Given the description of an element on the screen output the (x, y) to click on. 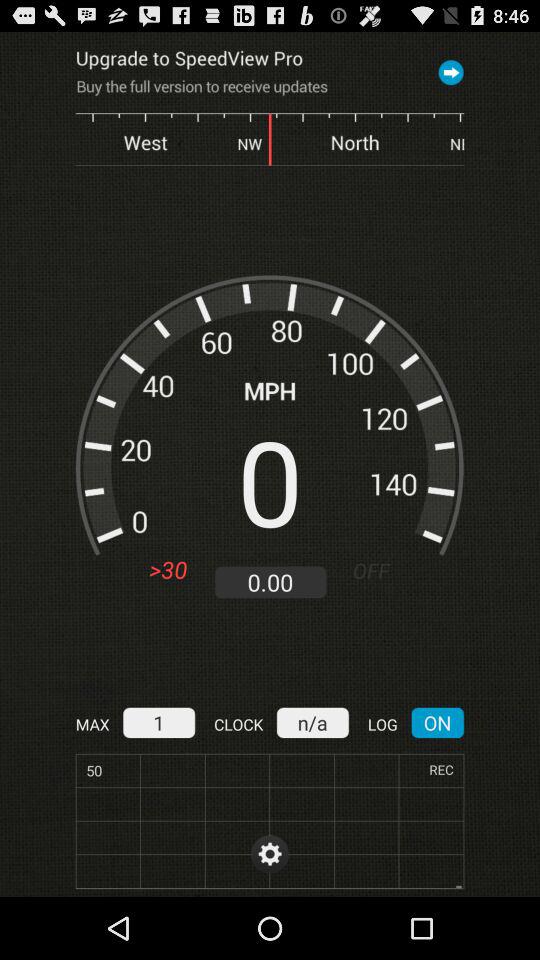
turn off the icon above the n/a item (378, 570)
